Given the description of an element on the screen output the (x, y) to click on. 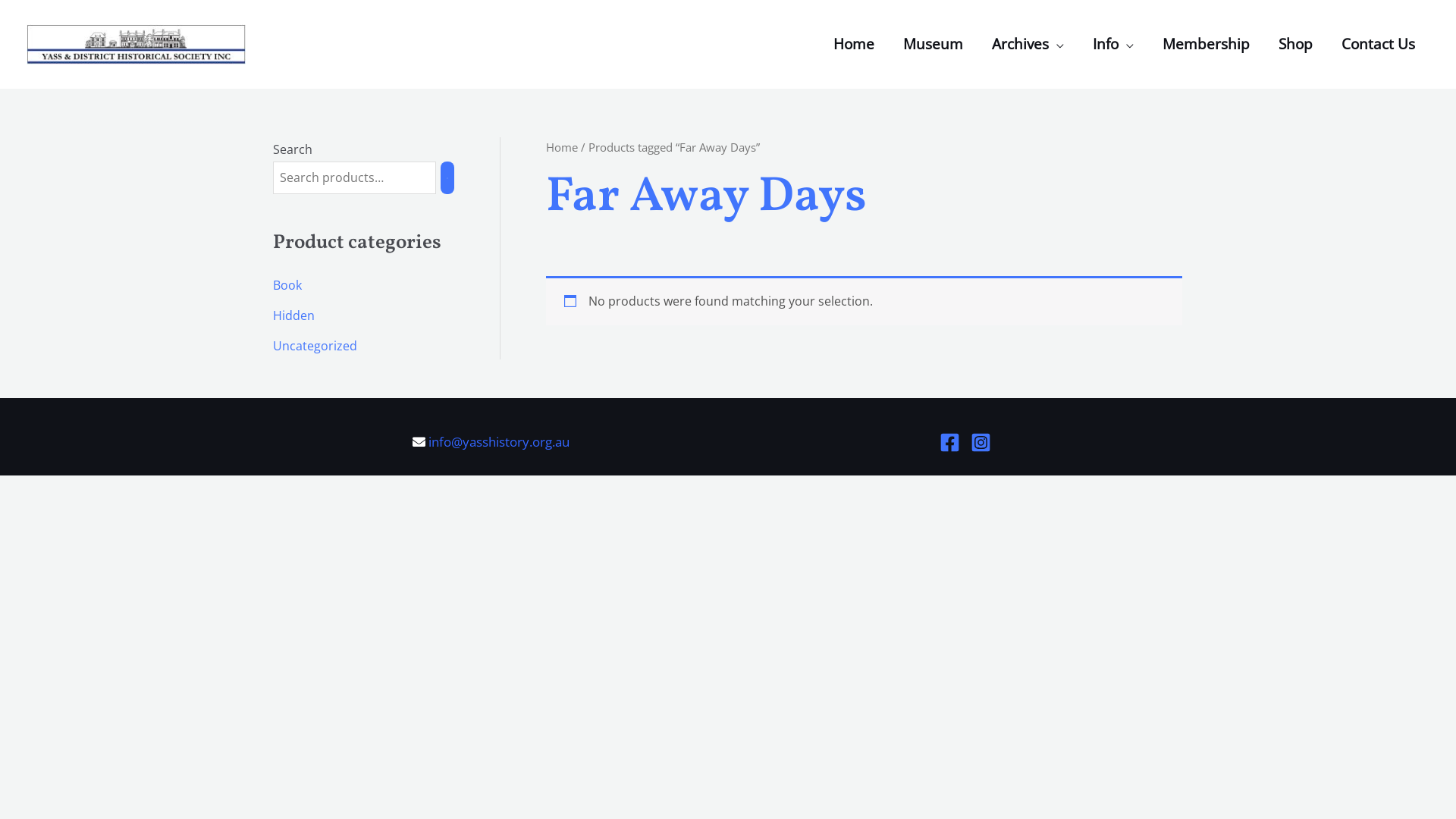
Home Element type: text (561, 146)
Uncategorized Element type: text (315, 345)
Book Element type: text (287, 284)
Hidden Element type: text (293, 315)
Shop Element type: text (1295, 43)
Archives Element type: text (1027, 43)
Contact Us Element type: text (1378, 43)
Membership Element type: text (1206, 43)
Home Element type: text (853, 43)
Museum Element type: text (932, 43)
Info Element type: text (1113, 43)
